Given the description of an element on the screen output the (x, y) to click on. 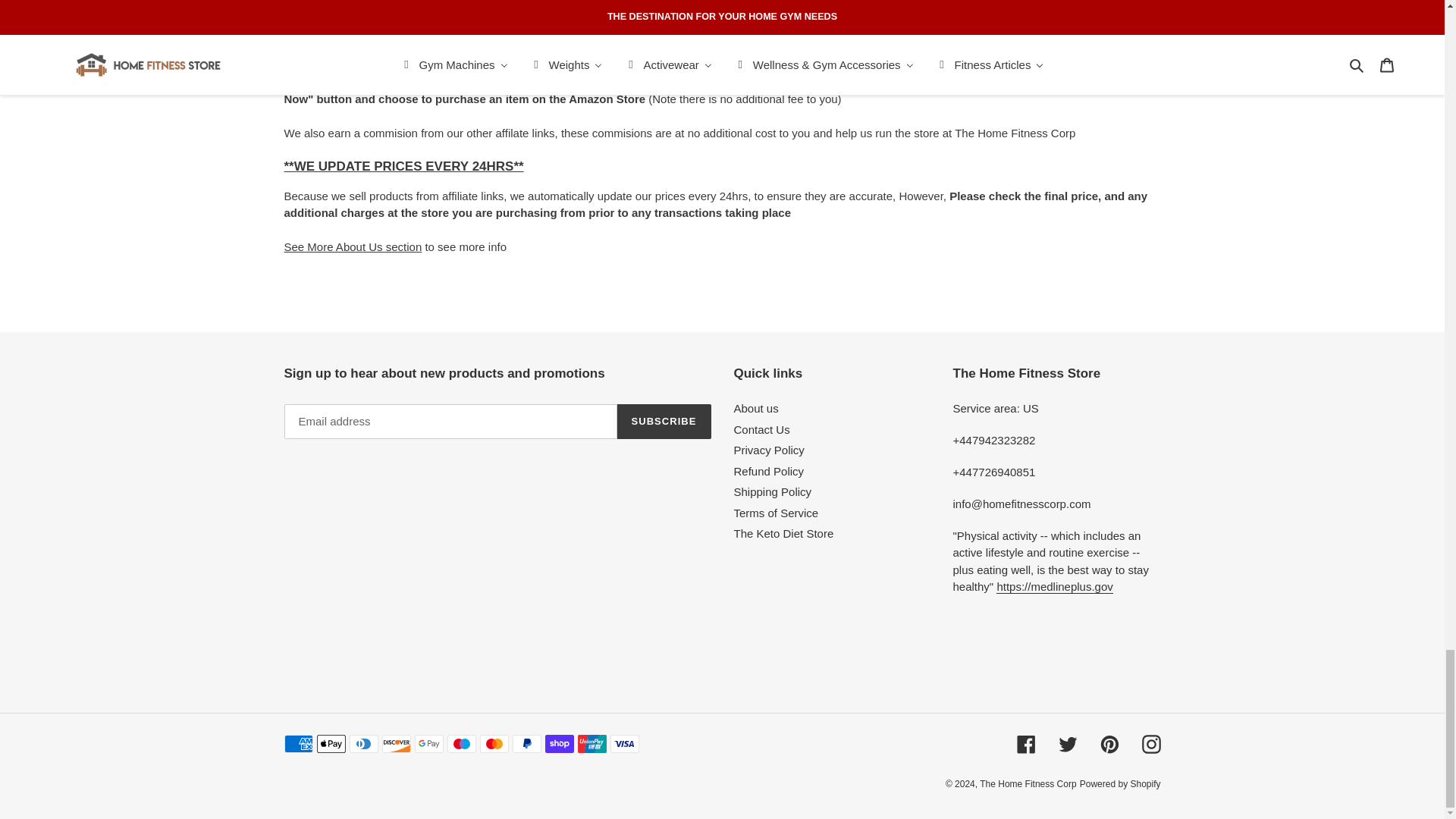
Mastercard (493, 743)
Shop Pay (558, 743)
Discover (395, 743)
Apple Pay (331, 743)
Union Pay (592, 743)
Maestro (461, 743)
Visa (624, 743)
Diners Club (363, 743)
Google Pay (427, 743)
PayPal (526, 743)
American Express (298, 743)
